Given the description of an element on the screen output the (x, y) to click on. 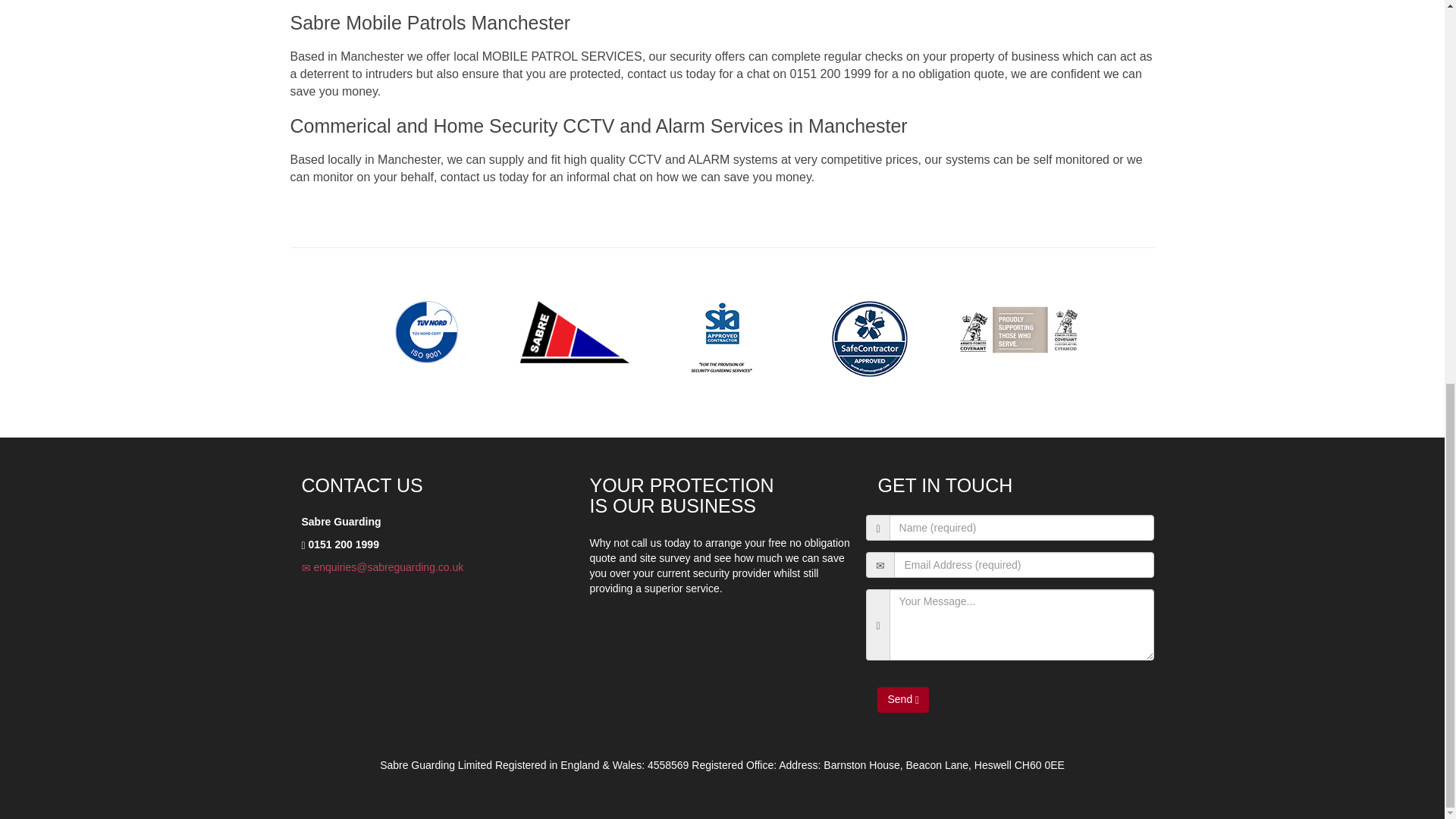
Proudly Supporting Armed Forces Covenant (1017, 330)
Send (902, 699)
